Given the description of an element on the screen output the (x, y) to click on. 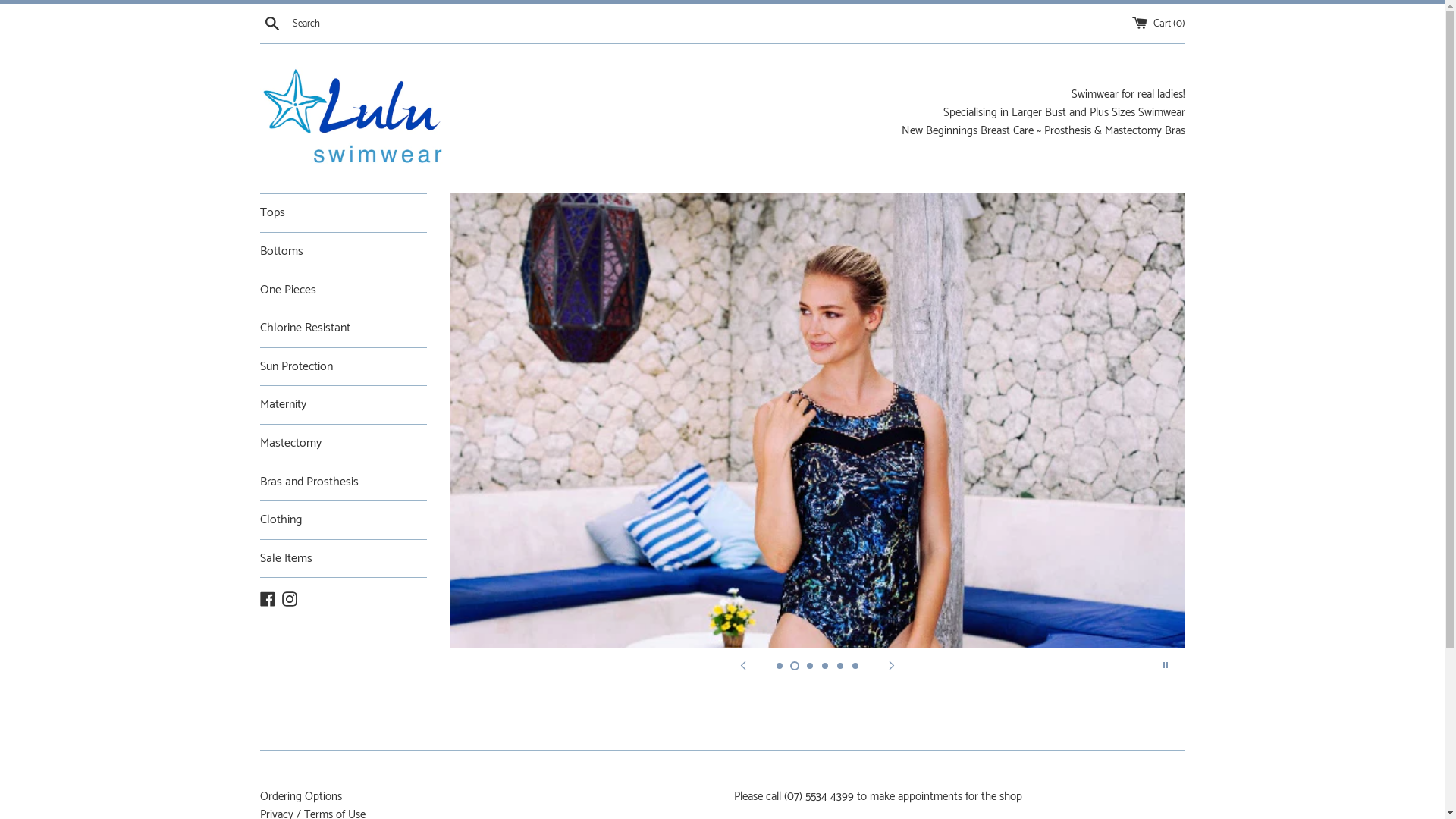
Instagram Element type: text (289, 597)
Bottoms Element type: text (342, 251)
One Pieces Element type: text (342, 290)
4 Element type: text (824, 665)
Search Element type: text (271, 23)
Tops Element type: text (342, 213)
Sale Items Element type: text (342, 558)
Facebook Element type: text (266, 597)
Ordering Options Element type: text (300, 796)
Chlorine Resistant Element type: text (342, 328)
Sun Protection Element type: text (342, 366)
Mastectomy Element type: text (342, 443)
1 Element type: text (779, 665)
Bras and Prosthesis Element type: text (342, 481)
5 Element type: text (839, 665)
Cart (0) Element type: text (1157, 23)
Clothing Element type: text (342, 520)
3 Element type: text (809, 665)
Maternity Element type: text (342, 404)
2 Element type: text (794, 665)
6 Element type: text (854, 665)
